Given the description of an element on the screen output the (x, y) to click on. 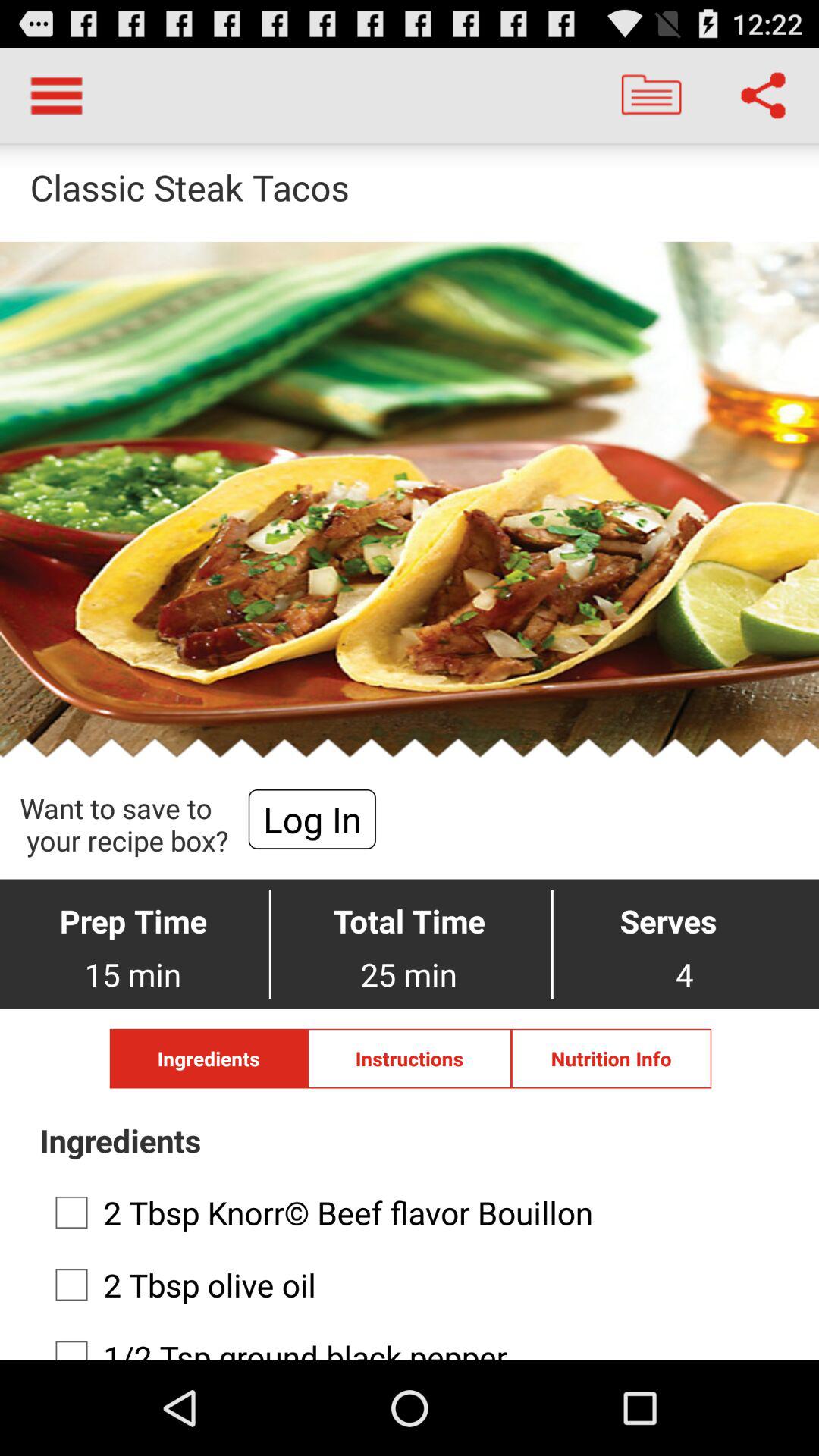
swipe to log in (311, 819)
